Given the description of an element on the screen output the (x, y) to click on. 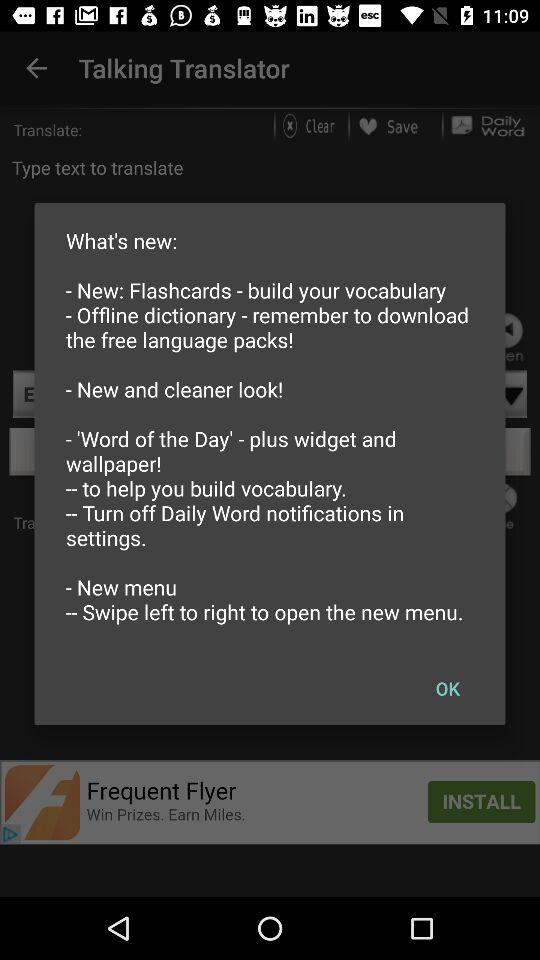
launch the icon at the bottom right corner (447, 688)
